Given the description of an element on the screen output the (x, y) to click on. 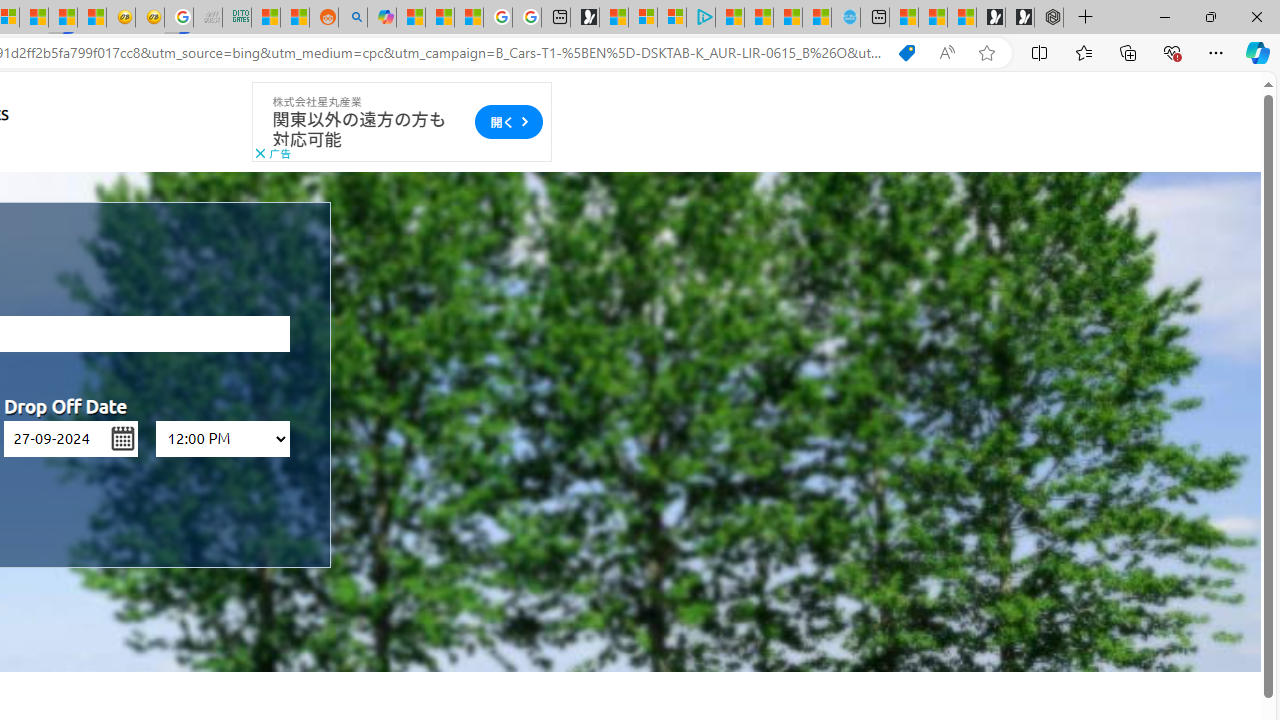
Microsoft Copilot in Bing (381, 17)
Class: select-dropoff-time select_box (222, 438)
